Given the description of an element on the screen output the (x, y) to click on. 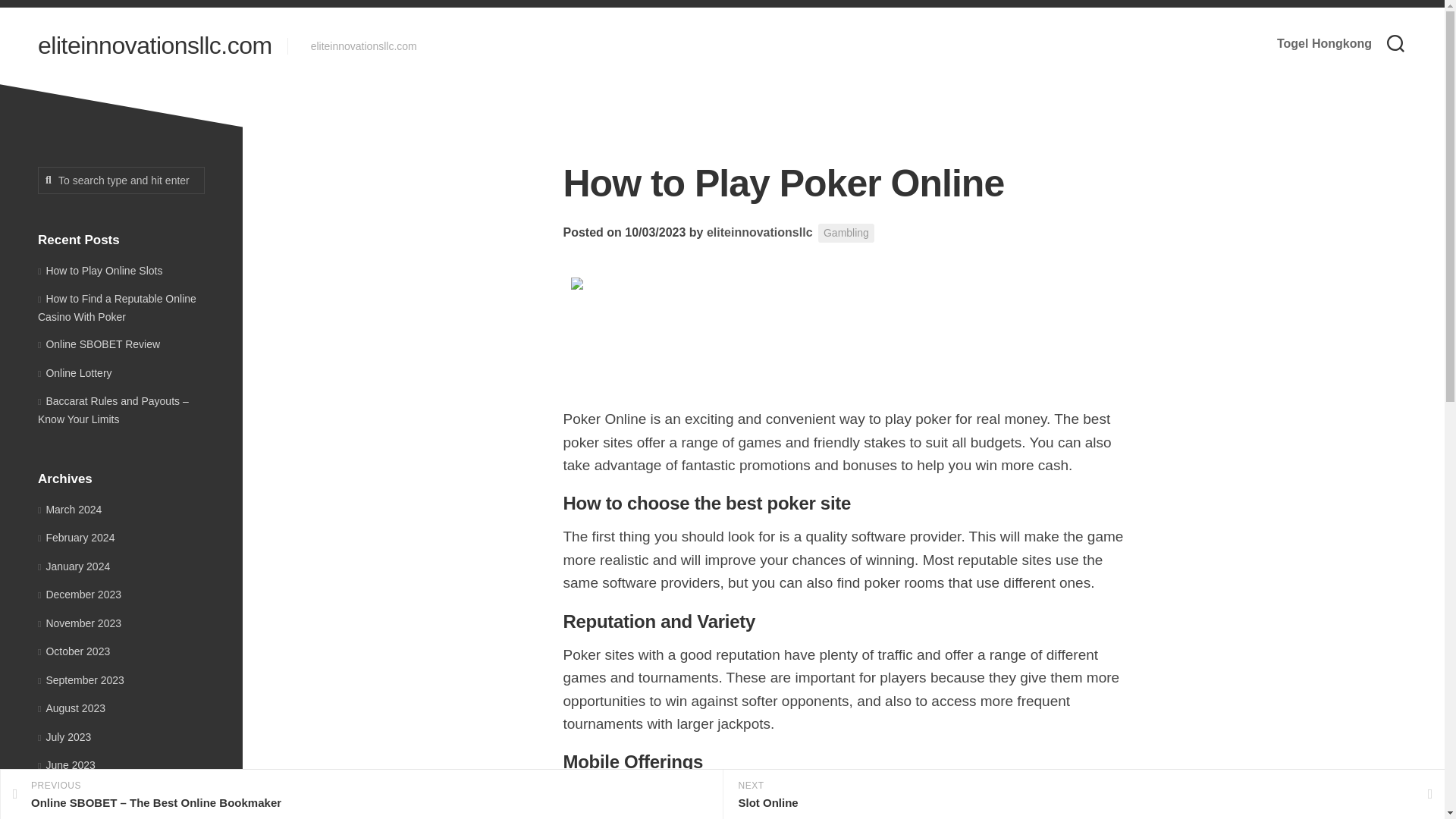
January 2024 (73, 565)
October 2023 (73, 651)
September 2023 (80, 679)
How to Find a Reputable Online Casino With Poker (116, 307)
December 2023 (78, 594)
Online SBOBET Review (98, 344)
To search type and hit enter (121, 180)
eliteinnovationsllc (759, 232)
March 2024 (69, 509)
Gambling (846, 232)
